Given the description of an element on the screen output the (x, y) to click on. 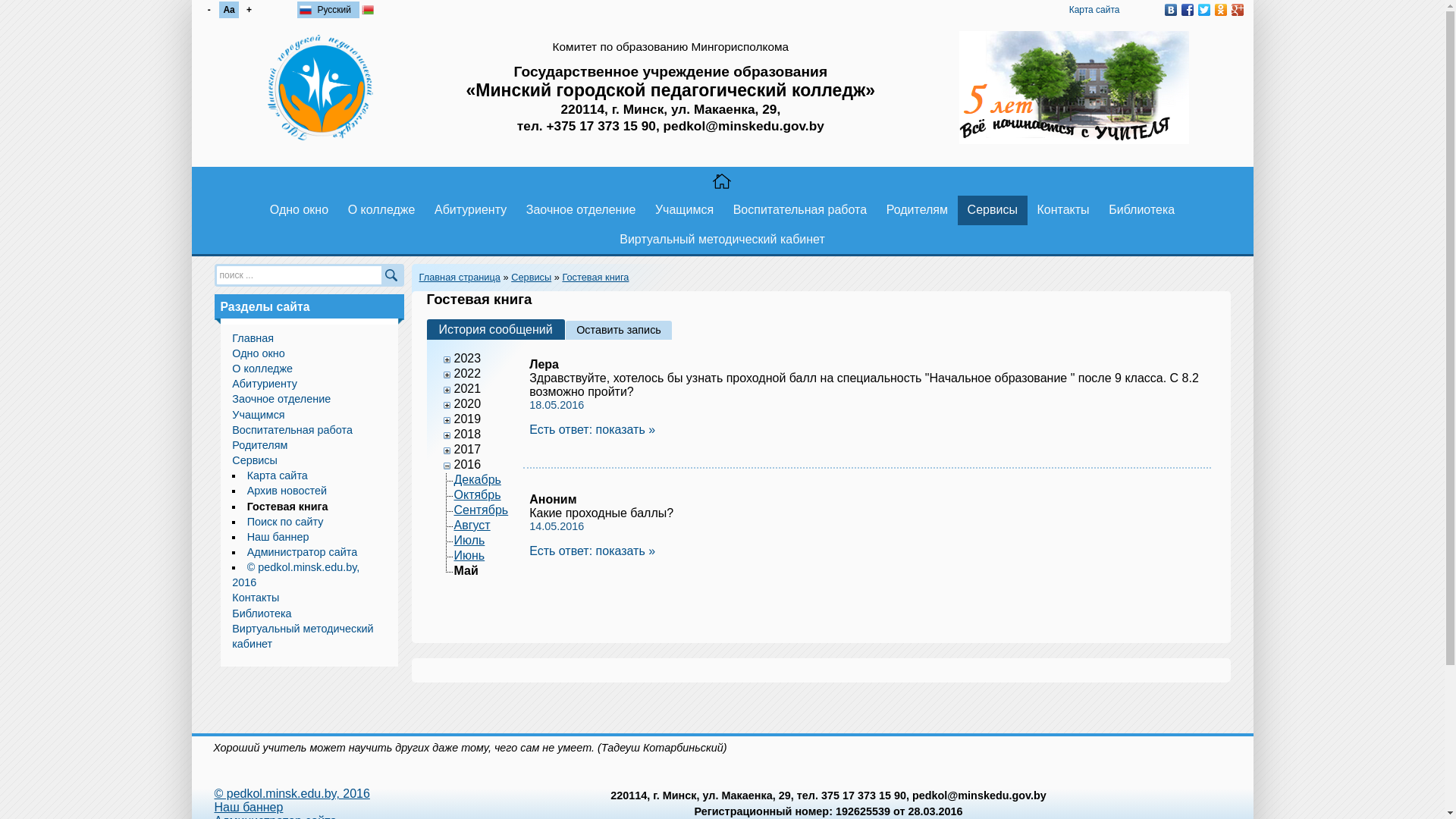
Google Plus Element type: hover (1236, 9)
Facebook Element type: hover (1186, 9)
Aa Element type: text (228, 9)
+ Element type: text (248, 9)
Twitter Element type: hover (1203, 9)
- Element type: text (208, 9)
